Given the description of an element on the screen output the (x, y) to click on. 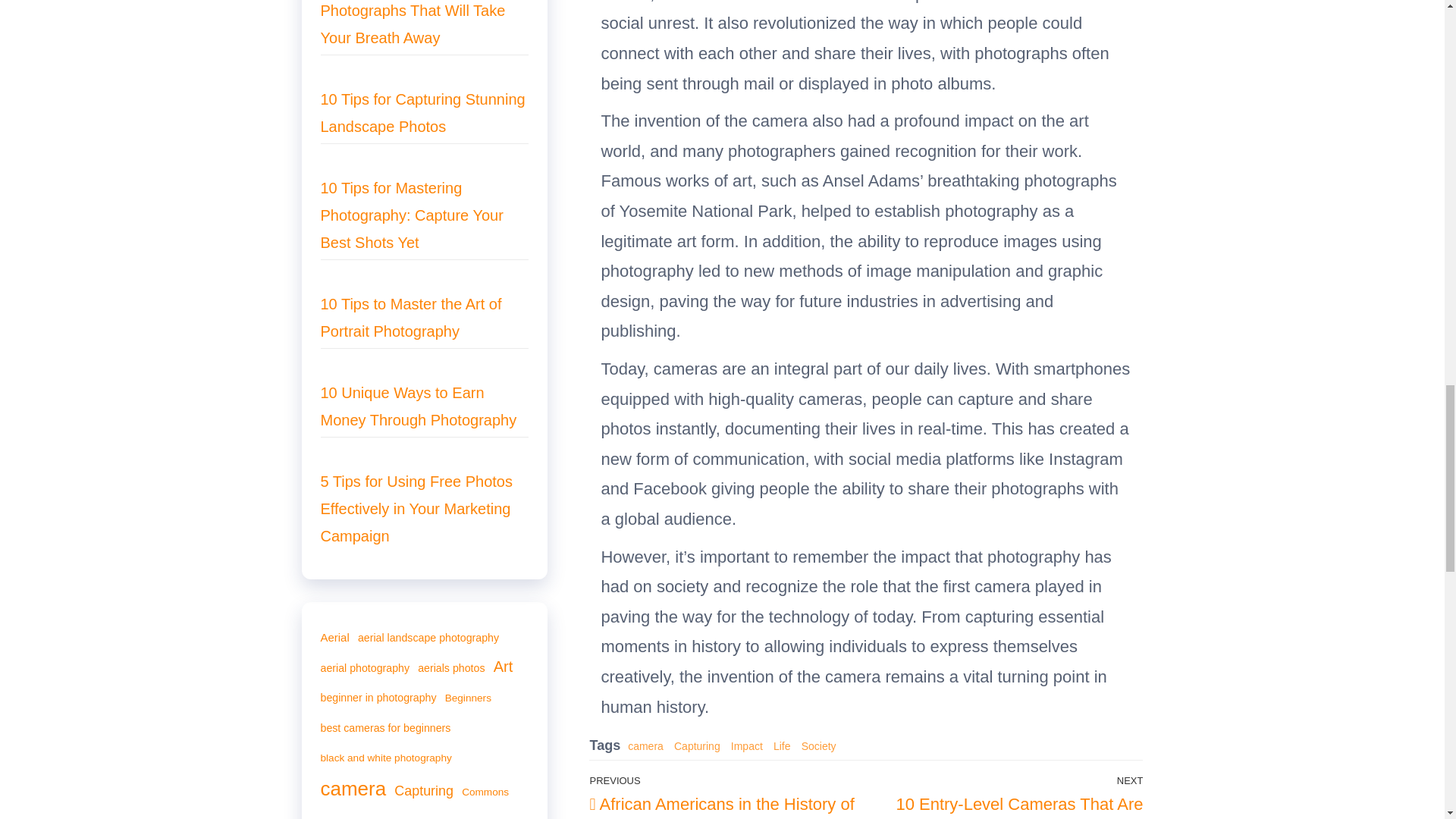
Society (818, 746)
10 Tips for Capturing Stunning Landscape Photos (422, 112)
Impact (746, 746)
Capturing (697, 746)
camera (645, 746)
Life (781, 746)
